Given the description of an element on the screen output the (x, y) to click on. 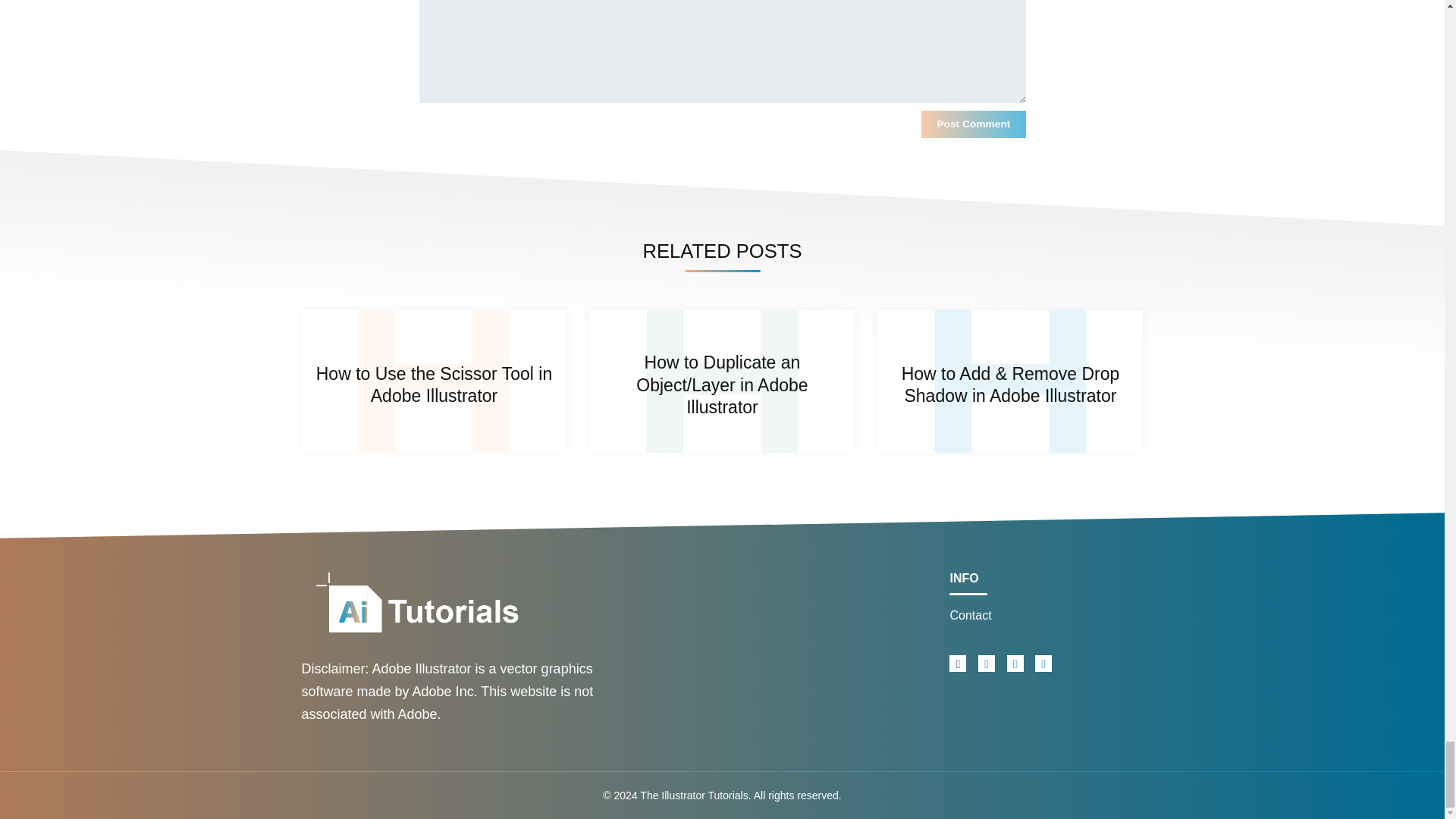
Facebook (957, 663)
Twitter (986, 663)
Post Comment (973, 124)
Instagram (433, 381)
Post Comment (1015, 663)
Contact (973, 124)
Pinterest (1045, 615)
